Given the description of an element on the screen output the (x, y) to click on. 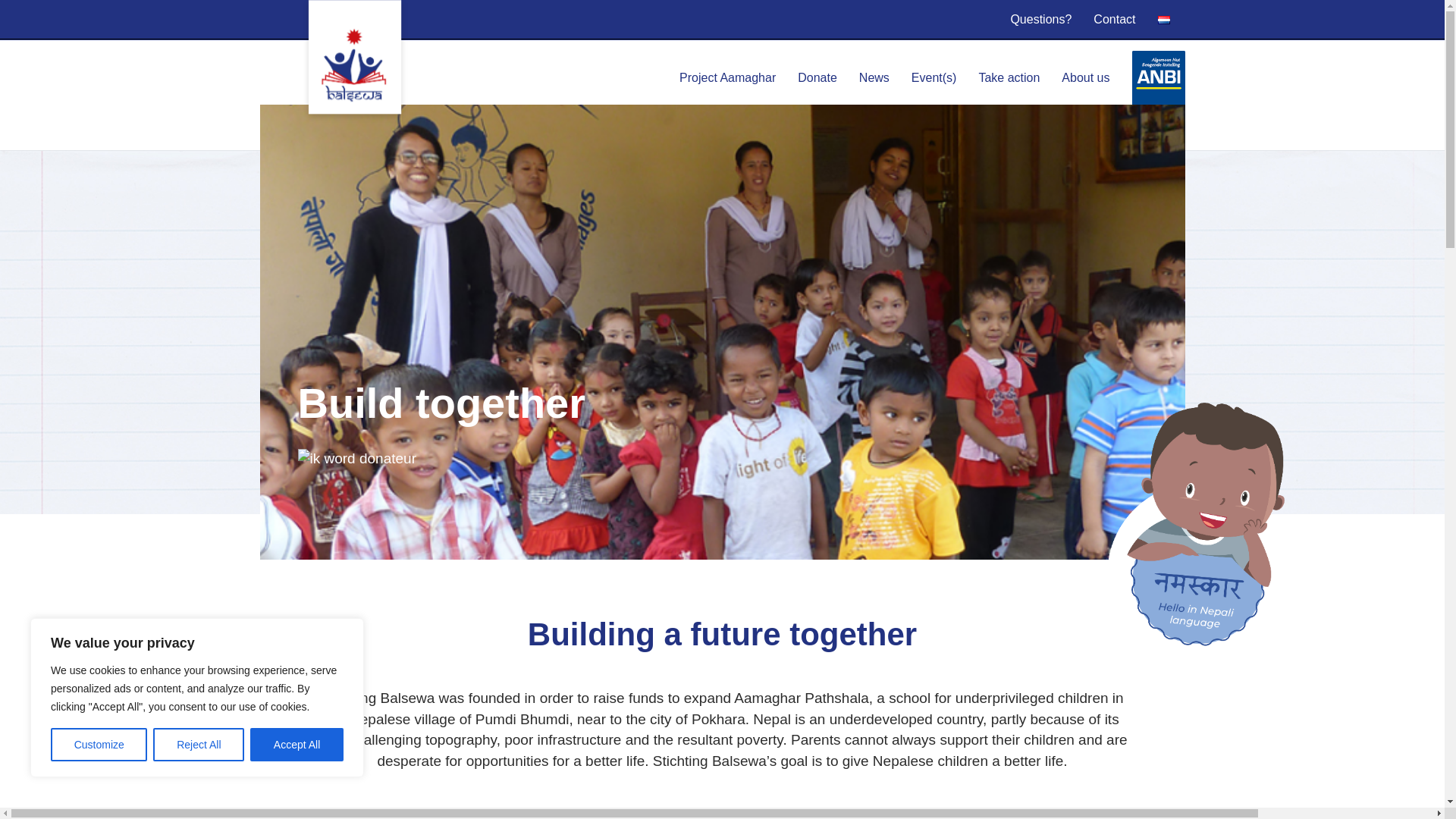
Contact (1114, 19)
Customize (98, 744)
Accept All (296, 744)
Questions? (1039, 19)
Reject All (198, 744)
